Given the description of an element on the screen output the (x, y) to click on. 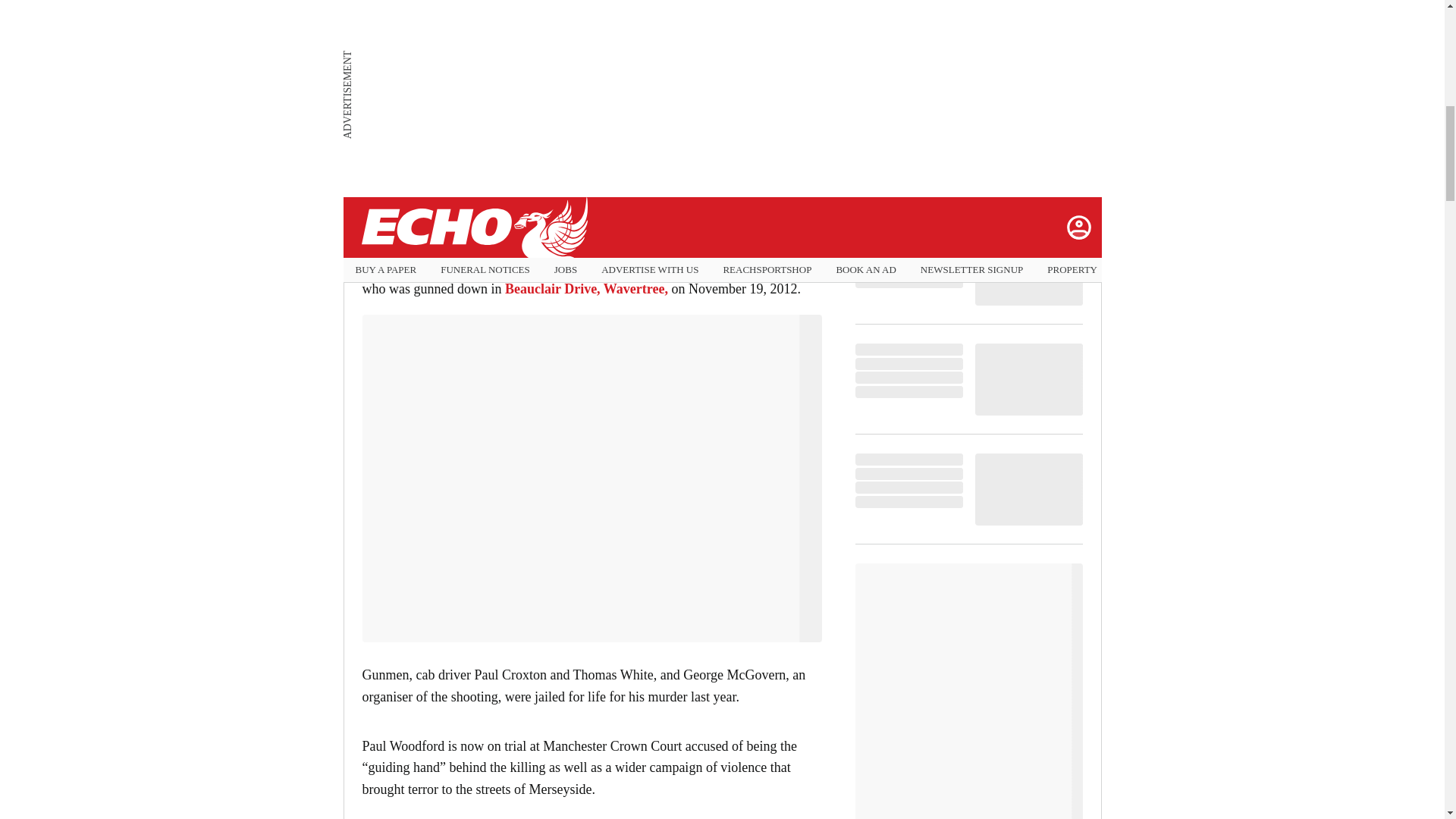
Liverpool (390, 196)
Beauclair Drive, Wavertree, (586, 288)
